Given the description of an element on the screen output the (x, y) to click on. 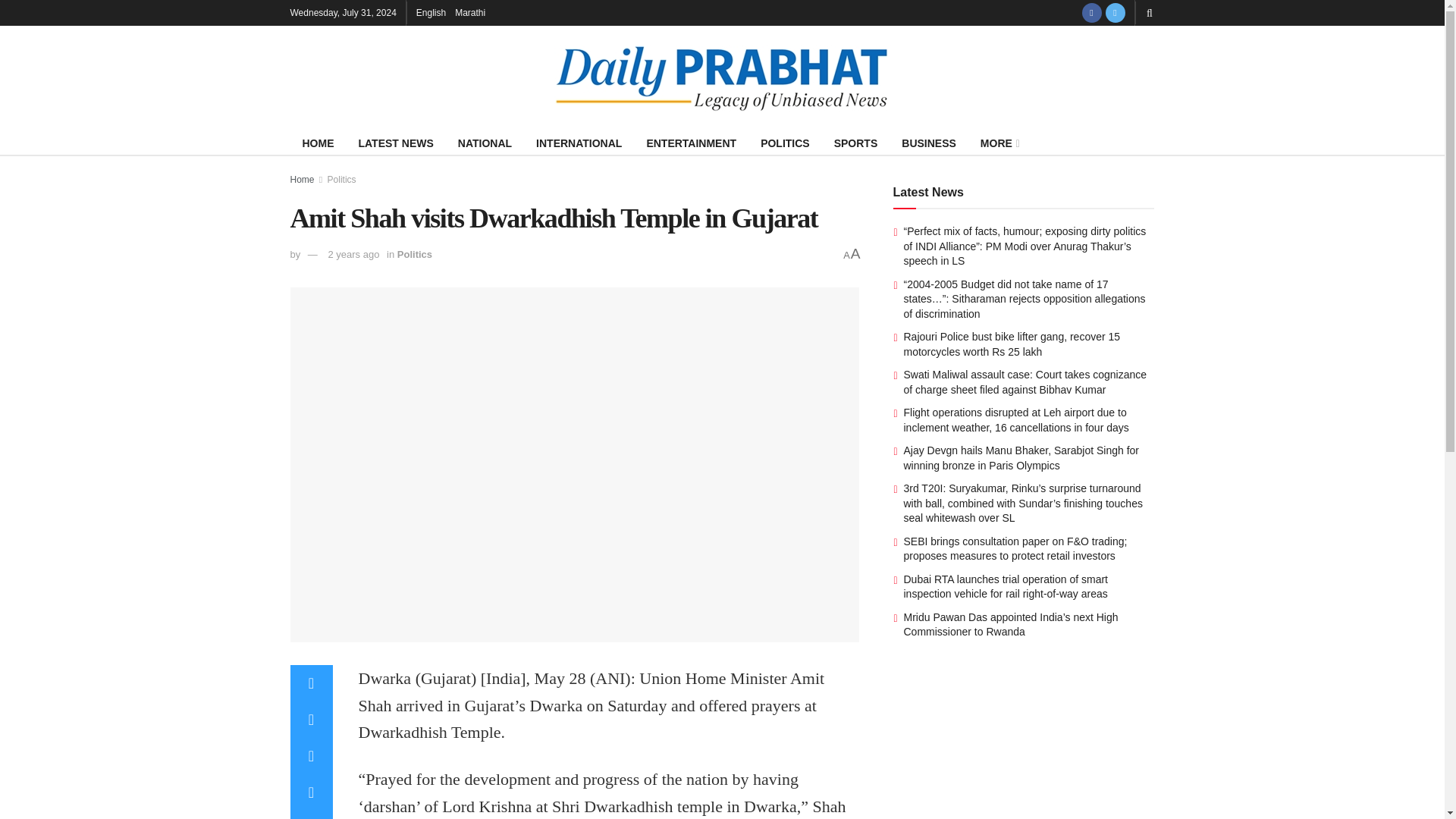
Home (301, 179)
2 years ago (352, 254)
Politics (341, 179)
MORE (998, 142)
SPORTS (855, 142)
POLITICS (785, 142)
Politics (414, 254)
English (430, 12)
Marathi (469, 12)
BUSINESS (928, 142)
INTERNATIONAL (578, 142)
ENTERTAINMENT (690, 142)
LATEST NEWS (395, 142)
NATIONAL (484, 142)
HOME (317, 142)
